Given the description of an element on the screen output the (x, y) to click on. 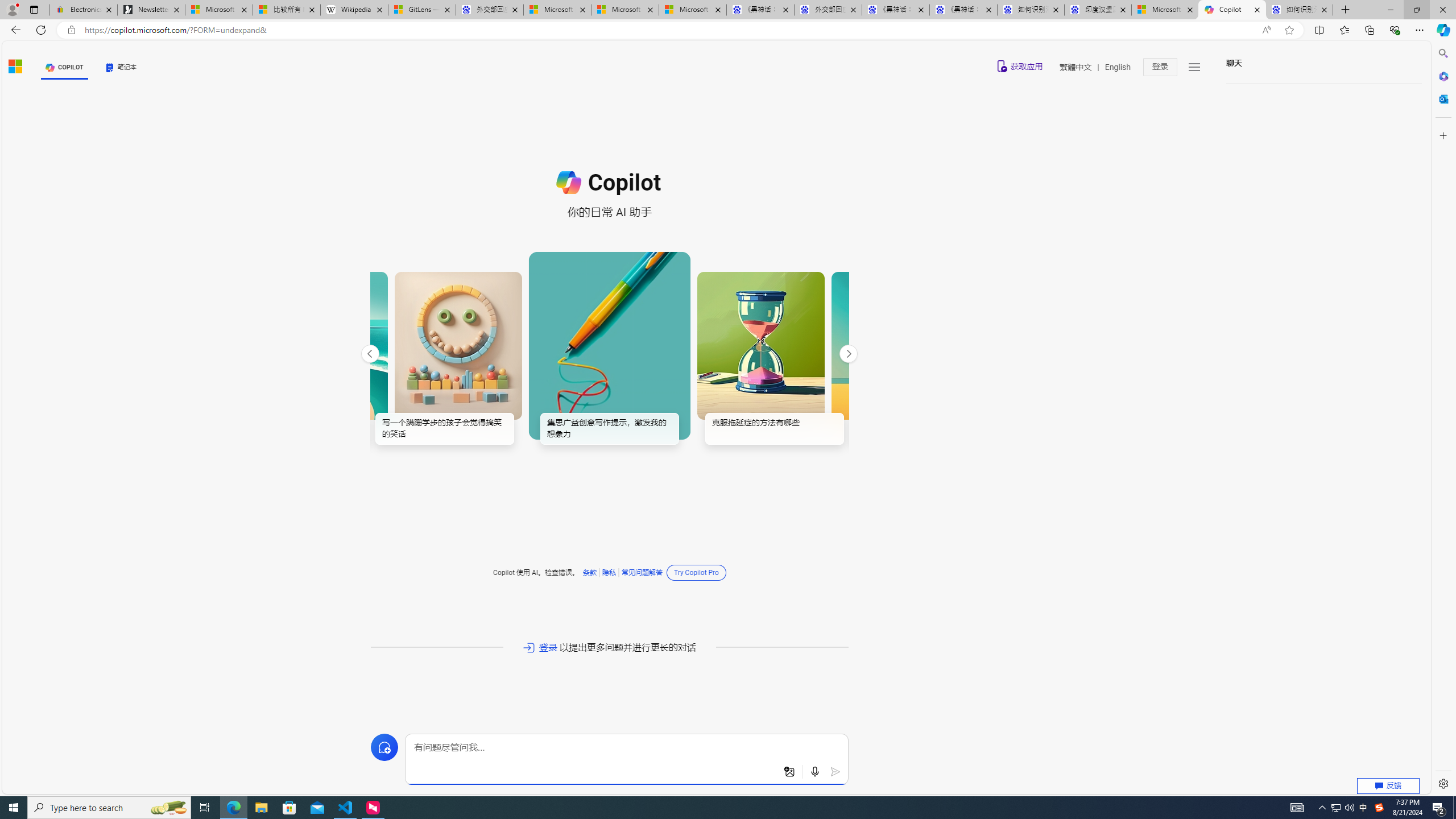
COPILOT (64, 67)
Newsletter Sign Up (150, 9)
Try Copilot Pro (696, 572)
